Given the description of an element on the screen output the (x, y) to click on. 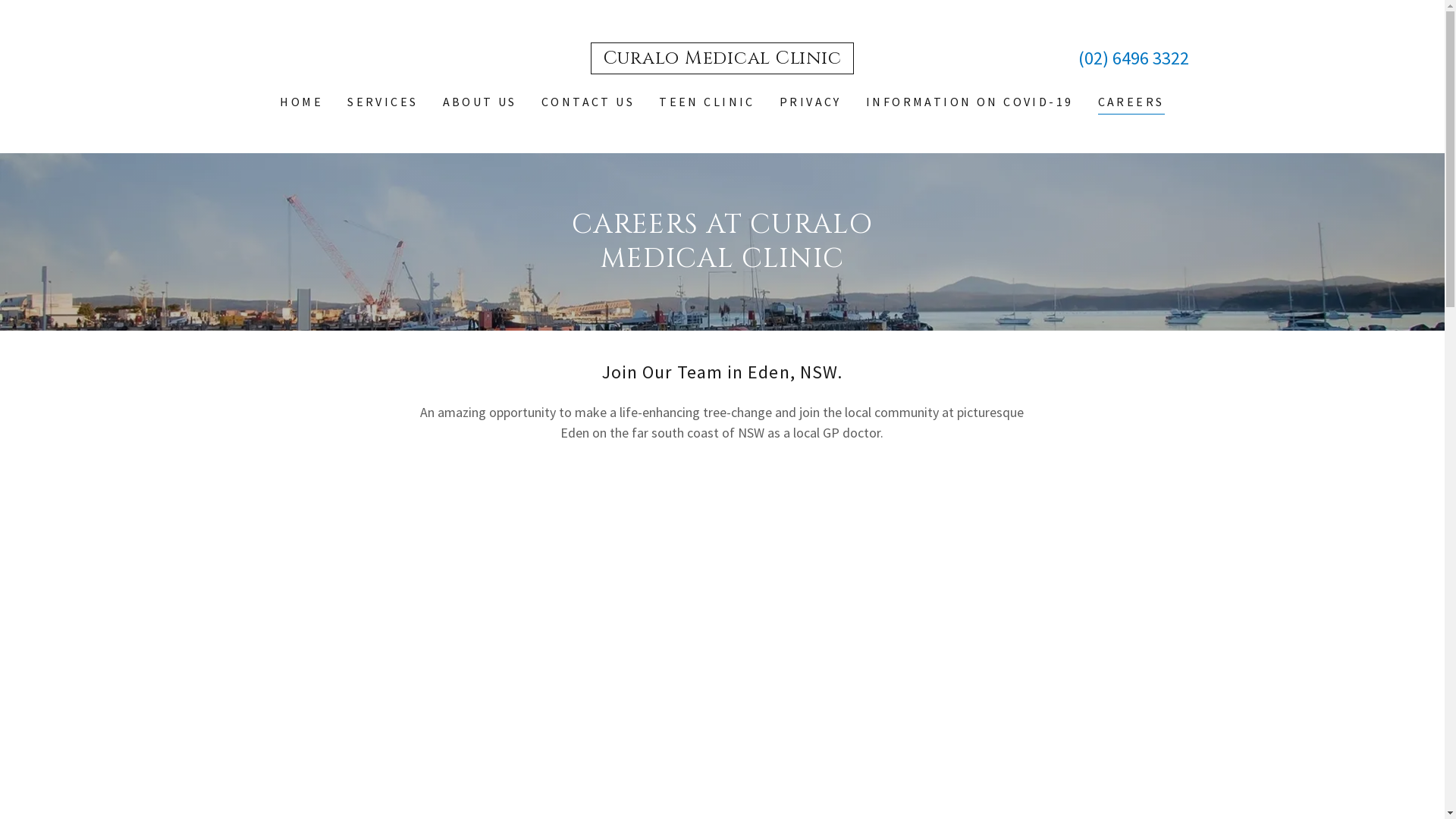
HOME Element type: text (301, 101)
(02) 6496 3322 Element type: text (1133, 57)
INFORMATION ON COVID-19 Element type: text (969, 101)
CAREERS Element type: text (1131, 103)
TEEN CLINIC Element type: text (706, 101)
CONTACT US Element type: text (587, 101)
PRIVACY Element type: text (810, 101)
ABOUT US Element type: text (479, 101)
SERVICES Element type: text (382, 101)
Curalo Medical Clinic Element type: text (722, 58)
